Given the description of an element on the screen output the (x, y) to click on. 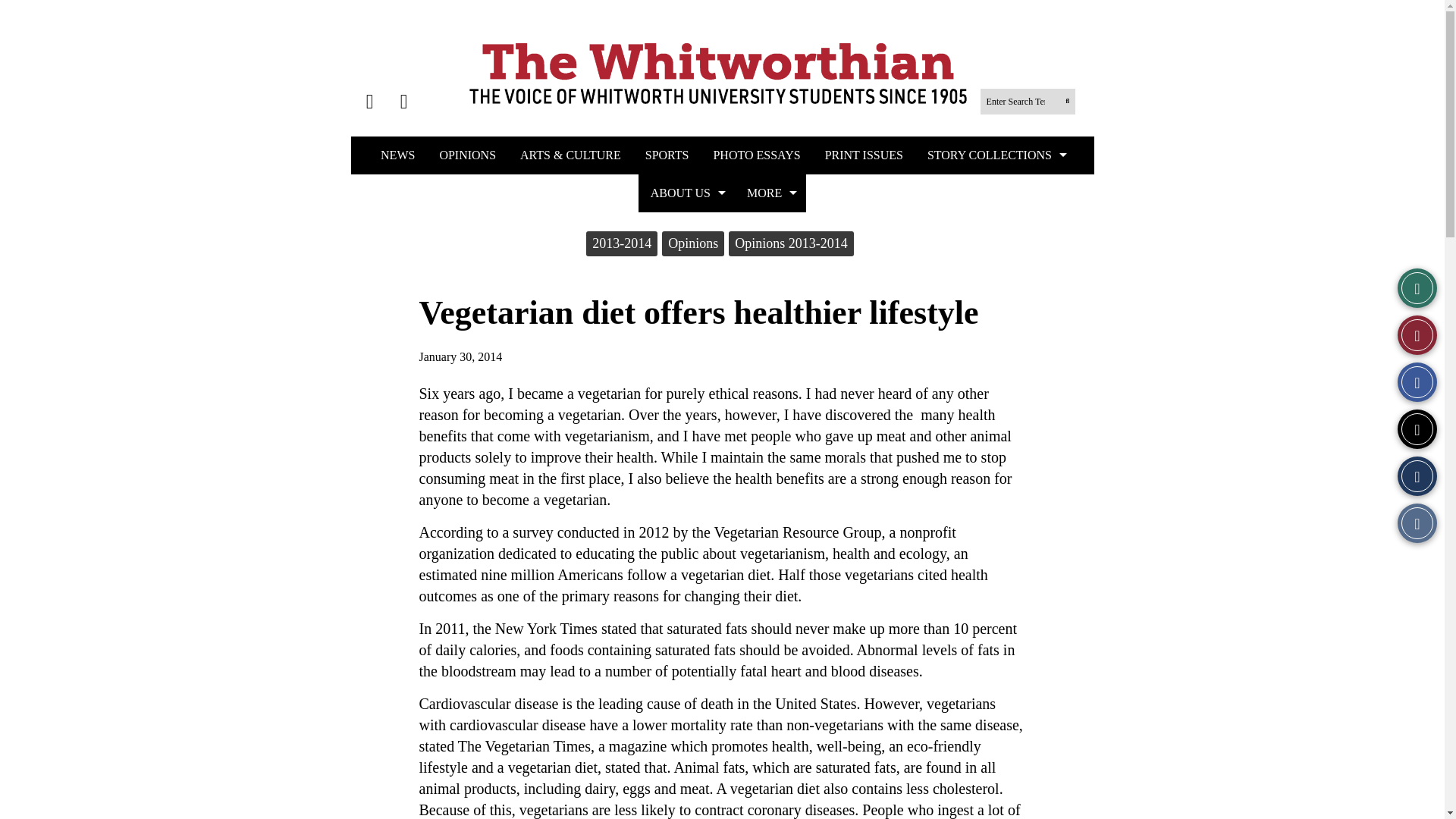
SPORTS (667, 155)
PHOTO ESSAYS (756, 155)
PRINT ISSUES (863, 155)
OPINIONS (467, 155)
STORY COLLECTIONS (995, 155)
ABOUT US (687, 193)
NEWS (397, 155)
MORE (770, 193)
